Given the description of an element on the screen output the (x, y) to click on. 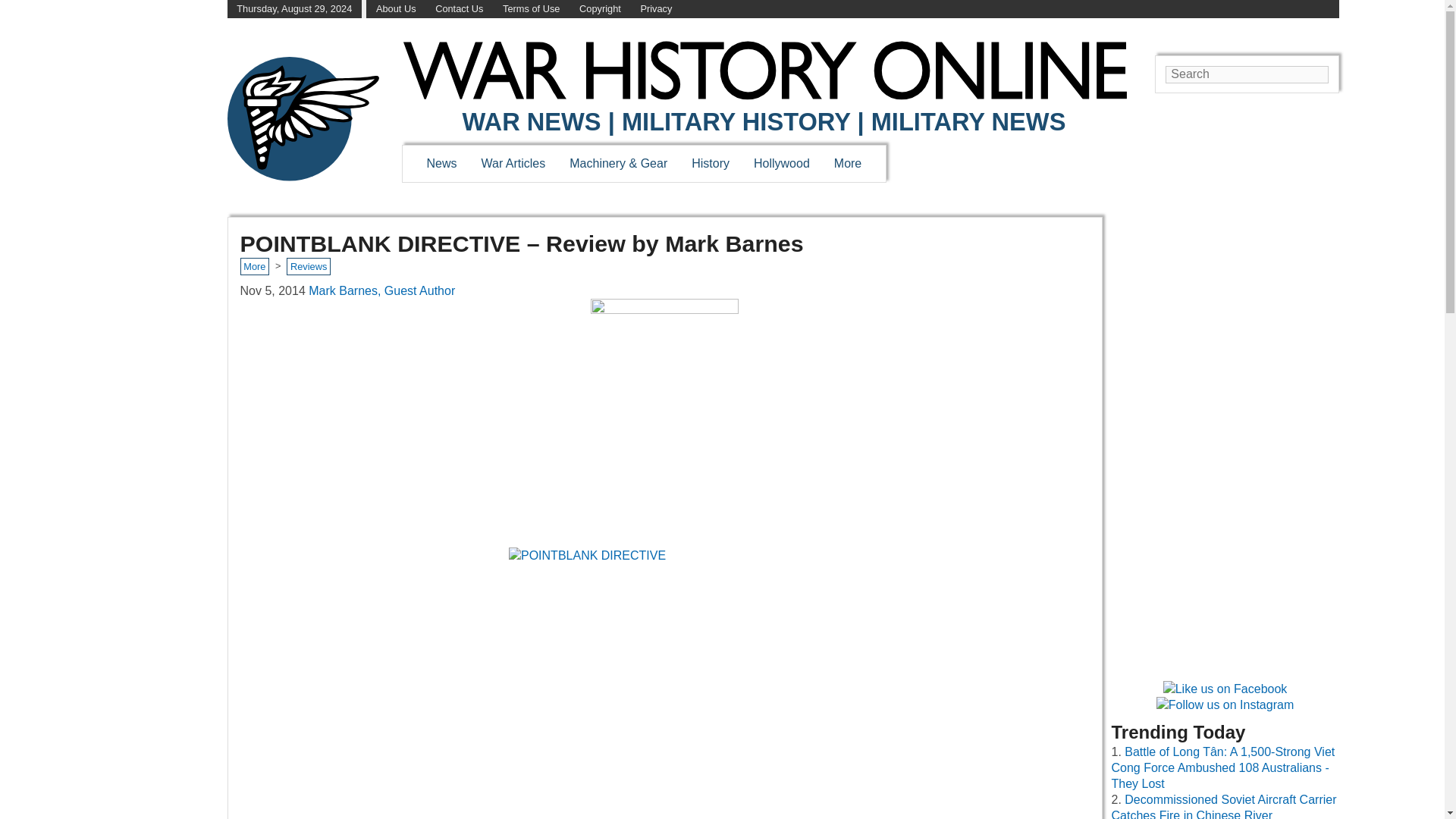
War Articles (513, 163)
Copyright (600, 8)
More (847, 163)
Hollywood (781, 163)
Contact Us (459, 8)
Privacy (655, 8)
Terms of Use (530, 8)
News (441, 163)
About Us (395, 8)
History (710, 163)
